Given the description of an element on the screen output the (x, y) to click on. 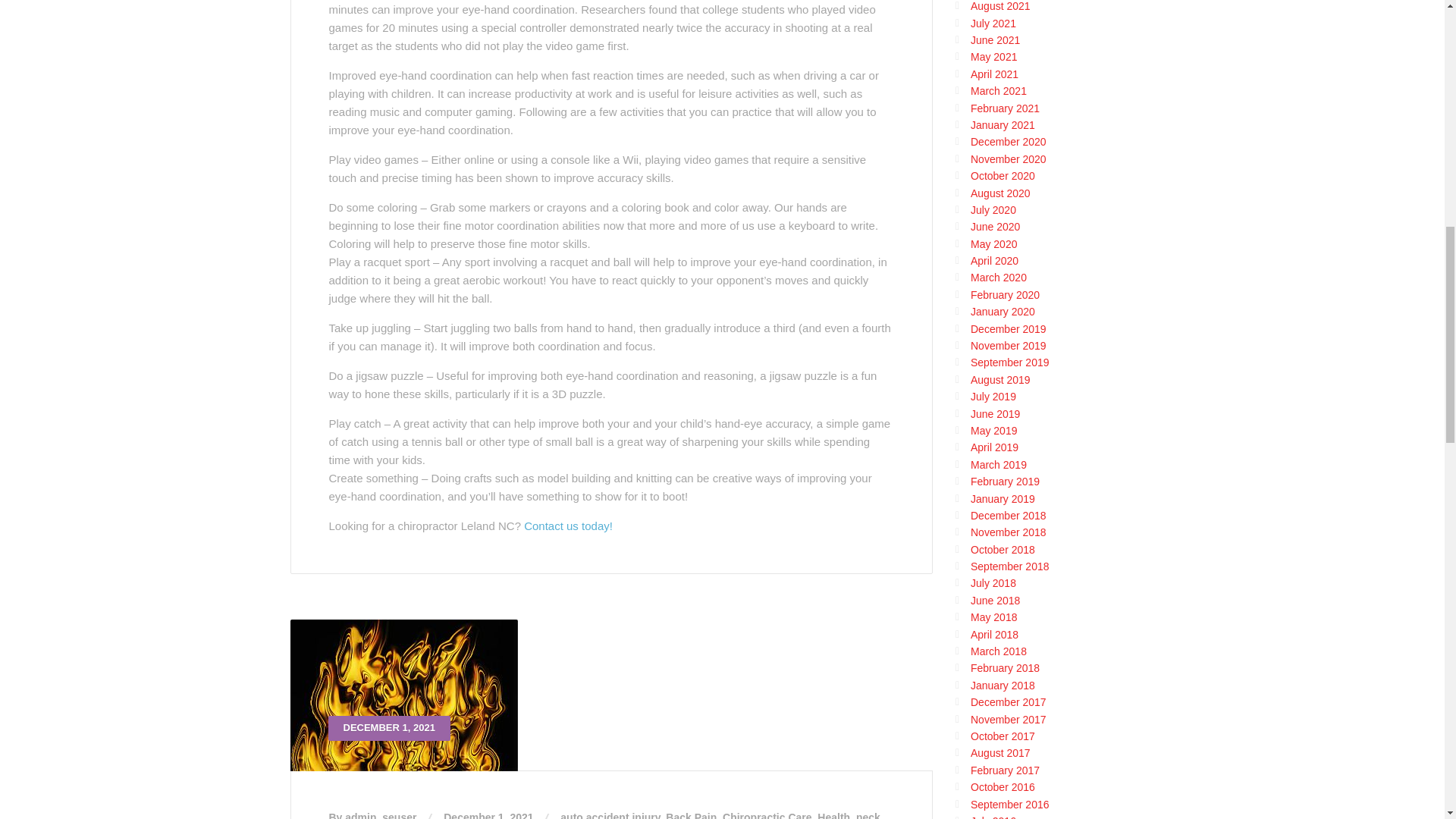
DECEMBER 1, 2021 (611, 695)
Contact us today! (568, 525)
